Given the description of an element on the screen output the (x, y) to click on. 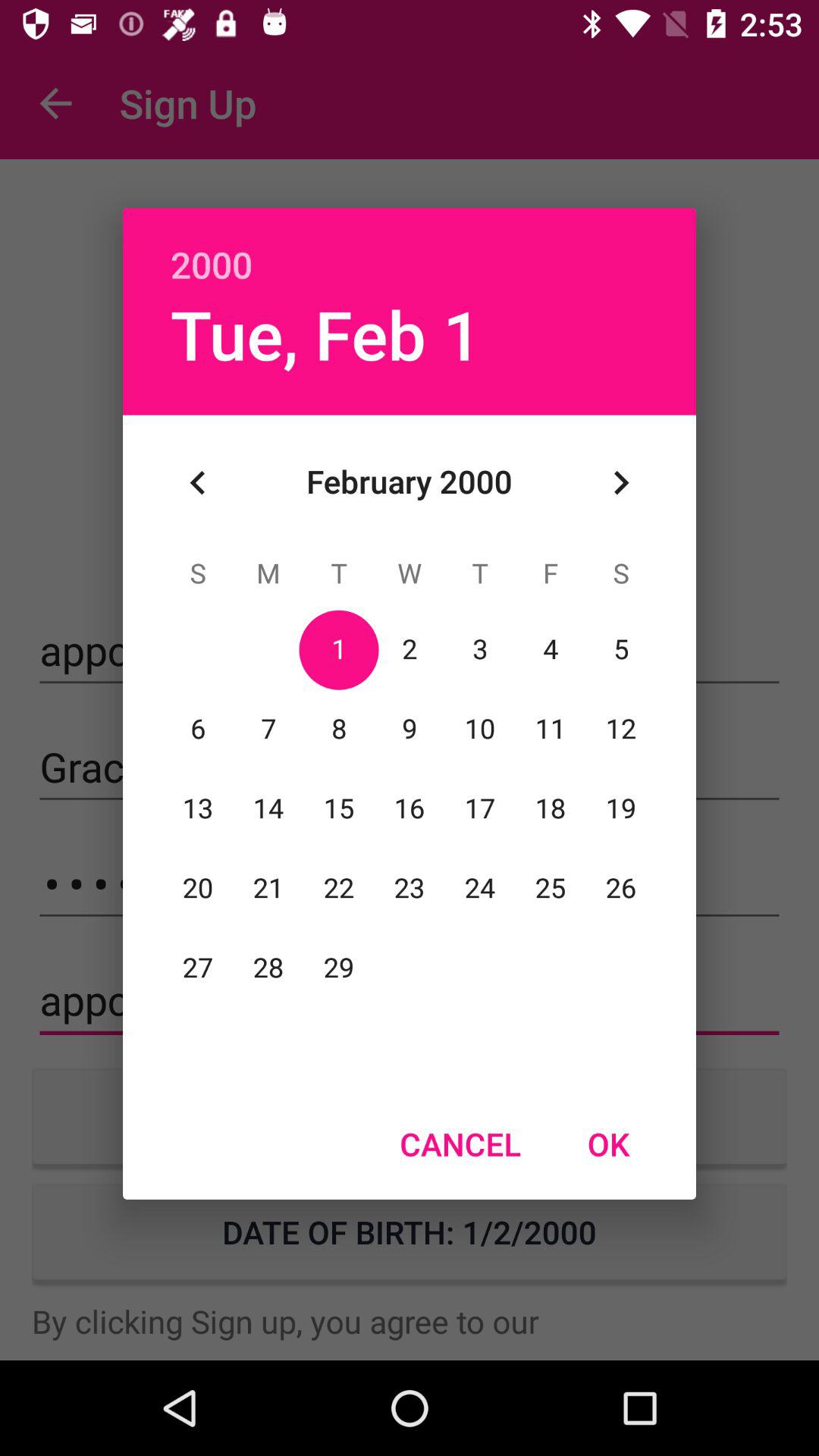
select ok icon (608, 1143)
